Given the description of an element on the screen output the (x, y) to click on. 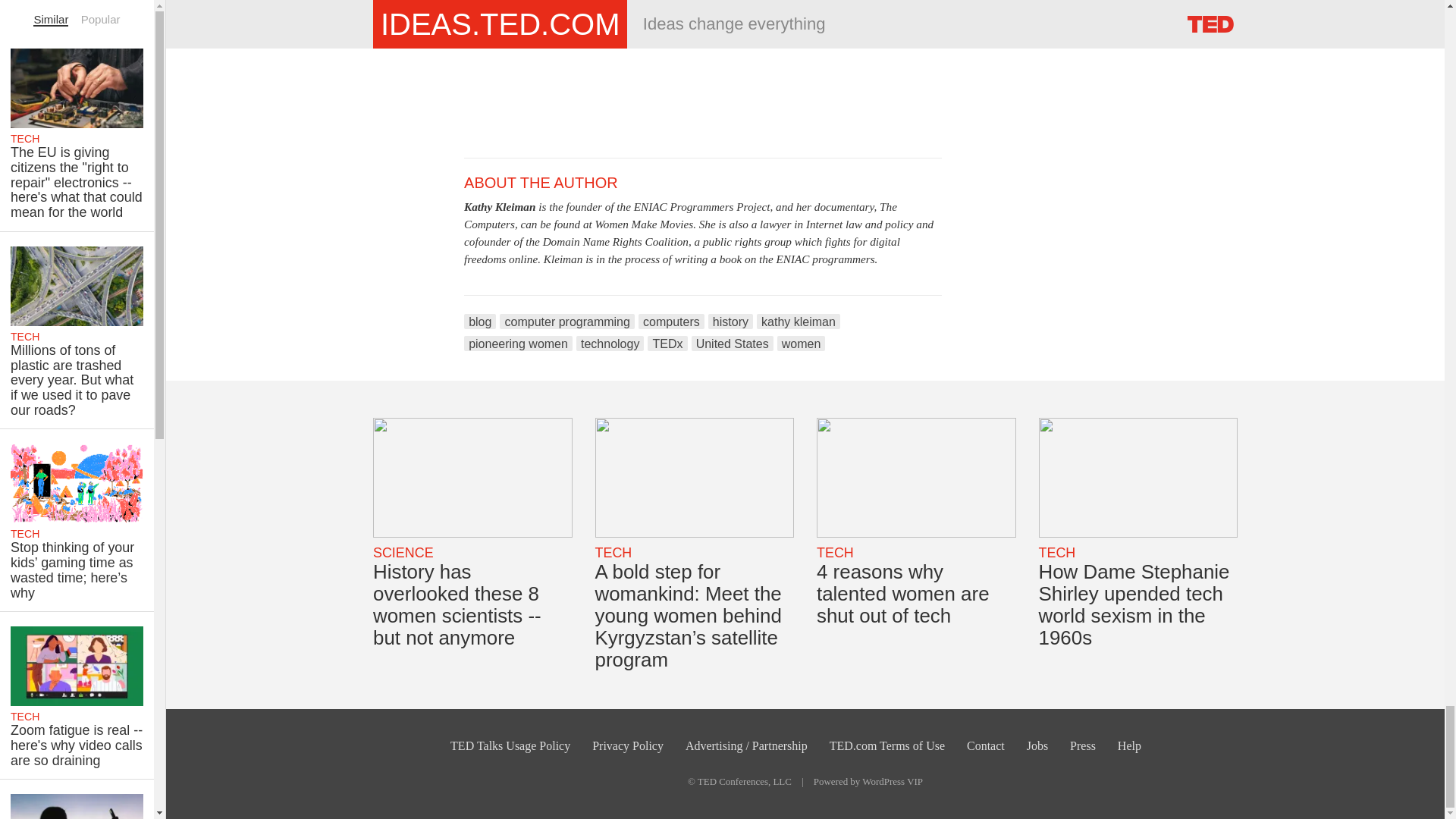
computer programming (566, 321)
Kathy Kleiman (499, 205)
computers (671, 321)
blog (480, 321)
kathy kleiman (798, 321)
history (729, 321)
